Given the description of an element on the screen output the (x, y) to click on. 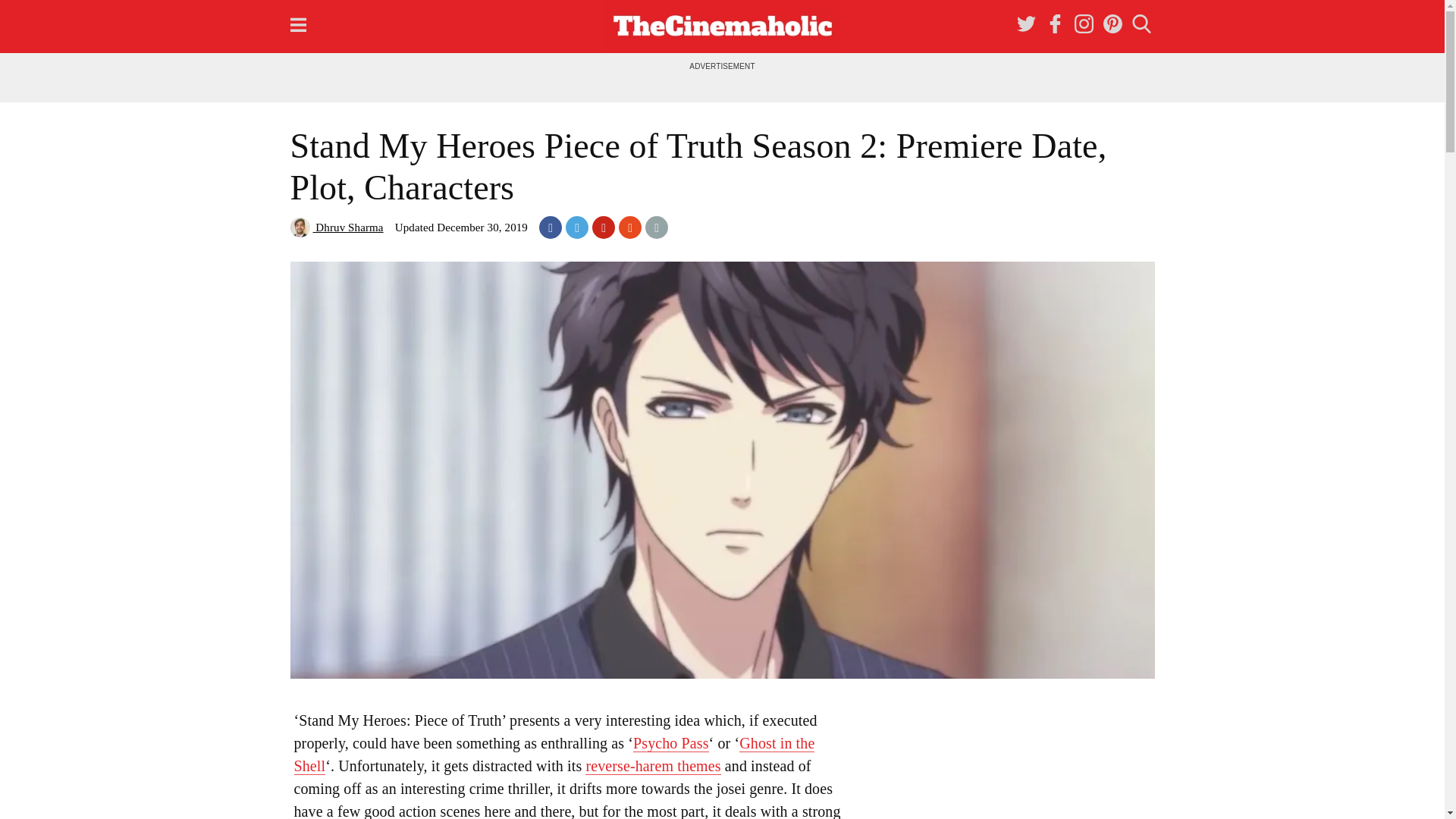
Ghost in the Shell (554, 754)
reverse-harem themes (652, 765)
Psycho Pass (671, 743)
Dhruv Sharma (335, 227)
